Given the description of an element on the screen output the (x, y) to click on. 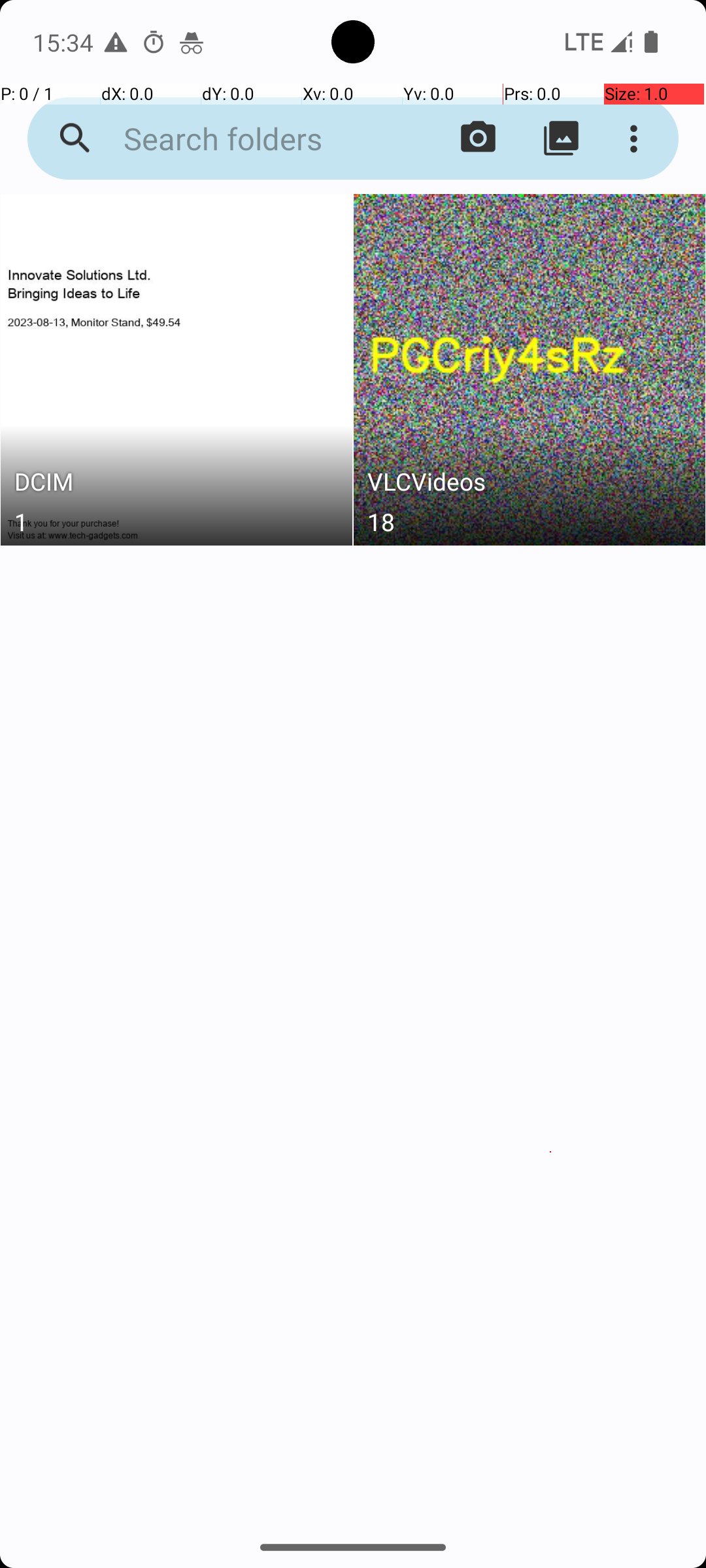
Open camera Element type: android.widget.Button (477, 138)
Show all folders content Element type: android.widget.Button (560, 138)
DCIM Element type: android.widget.TextView (176, 484)
VLCVideos Element type: android.widget.TextView (529, 484)
